Given the description of an element on the screen output the (x, y) to click on. 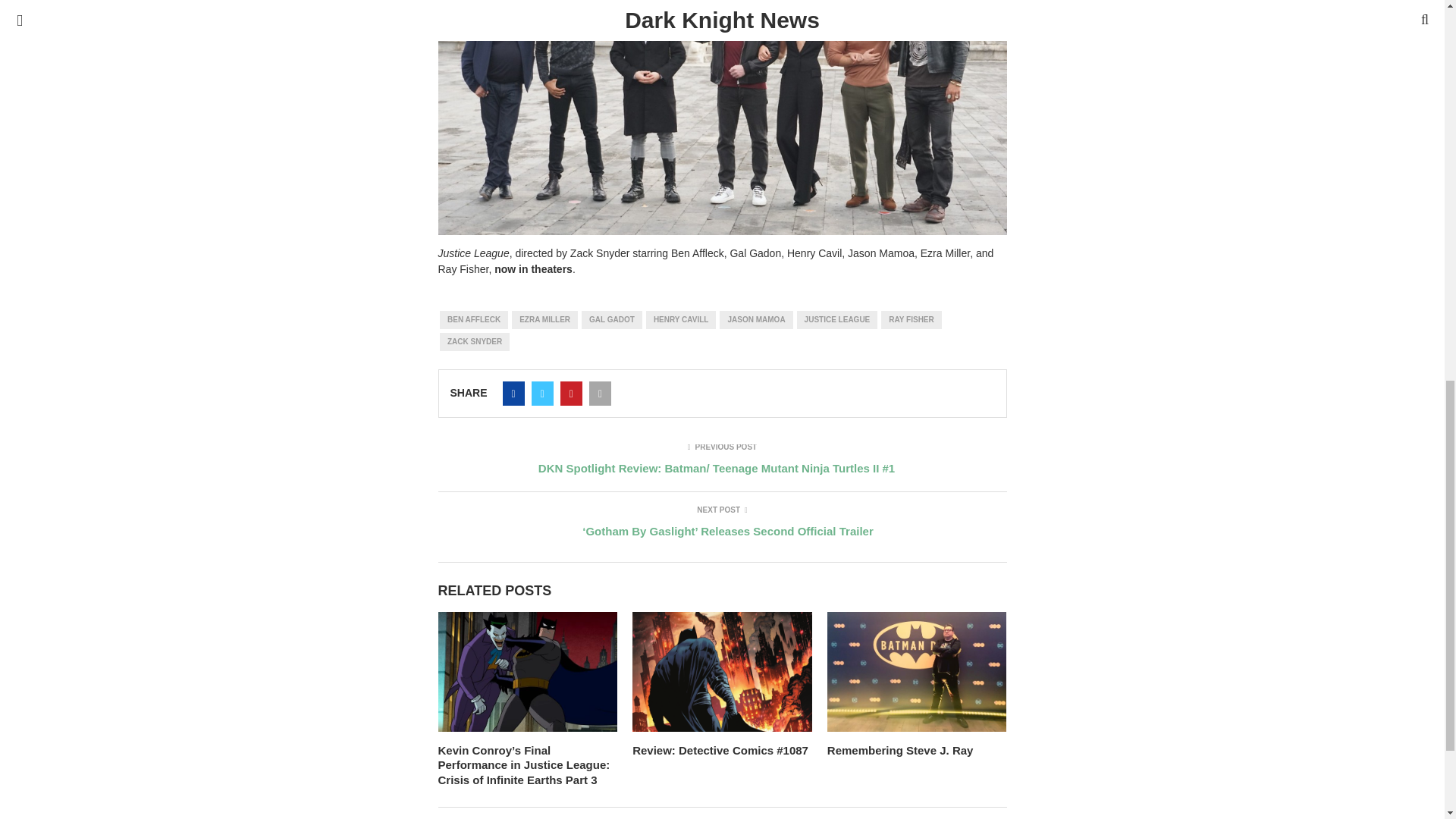
RAY FISHER (910, 320)
Remembering Steve J. Ray (900, 749)
BEN AFFLECK (473, 320)
GAL GADOT (611, 320)
EZRA MILLER (545, 320)
ZACK SNYDER (474, 341)
JASON MAMOA (755, 320)
HENRY CAVILL (681, 320)
JUSTICE LEAGUE (836, 320)
